Given the description of an element on the screen output the (x, y) to click on. 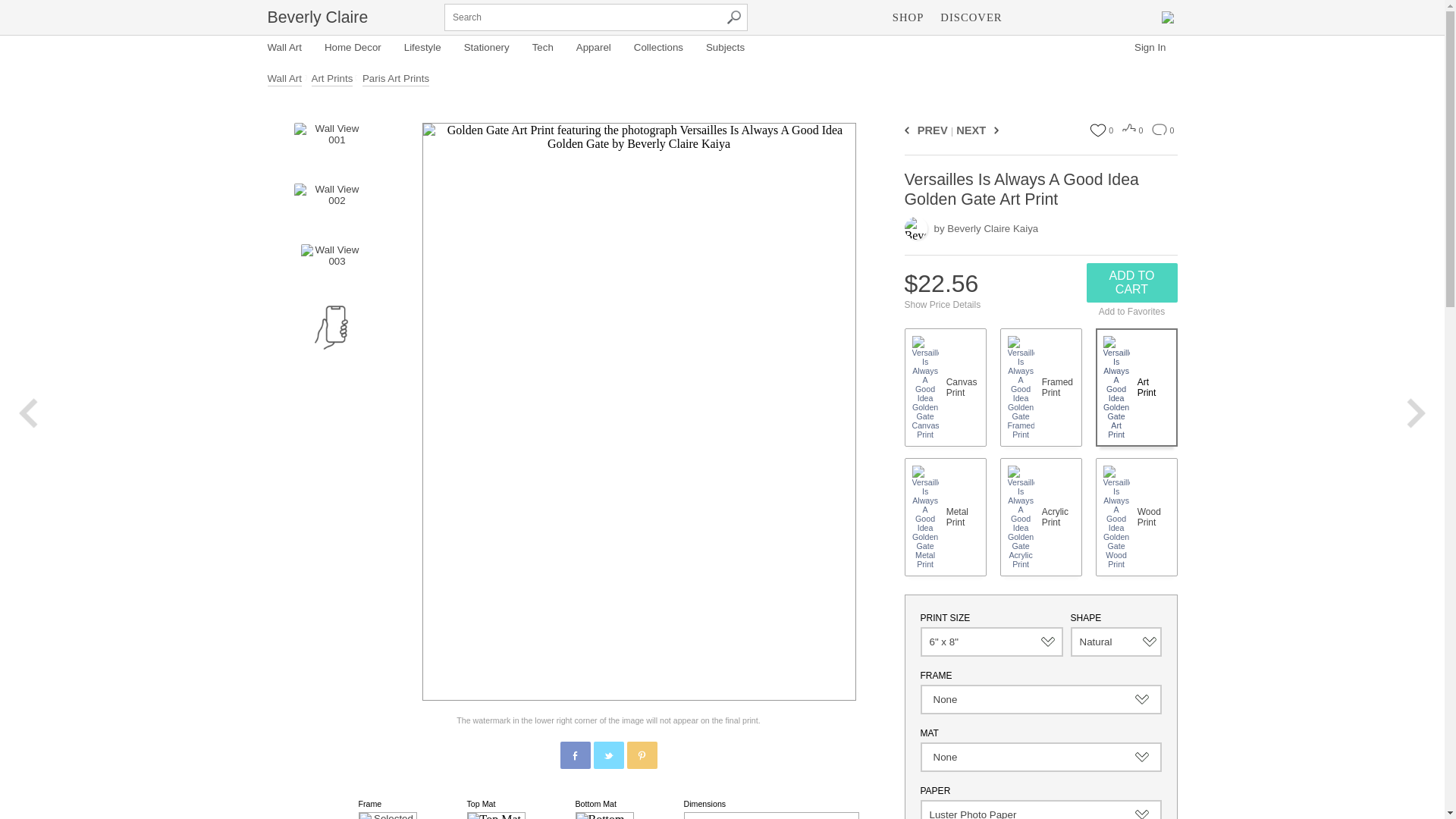
Wall View 001 (330, 145)
Bottom Mat (604, 815)
Favorite (1097, 130)
DISCOVER (971, 16)
Share Product on Facebook (574, 755)
Comment (1158, 130)
Beverly Claire (317, 16)
Twitter (609, 756)
Top Mat (496, 815)
Share Product on Twitter (607, 755)
Pinterest (642, 756)
Share Product on Pinterest (641, 755)
Launch Mobile App (330, 327)
Search (733, 17)
Facebook (575, 756)
